Given the description of an element on the screen output the (x, y) to click on. 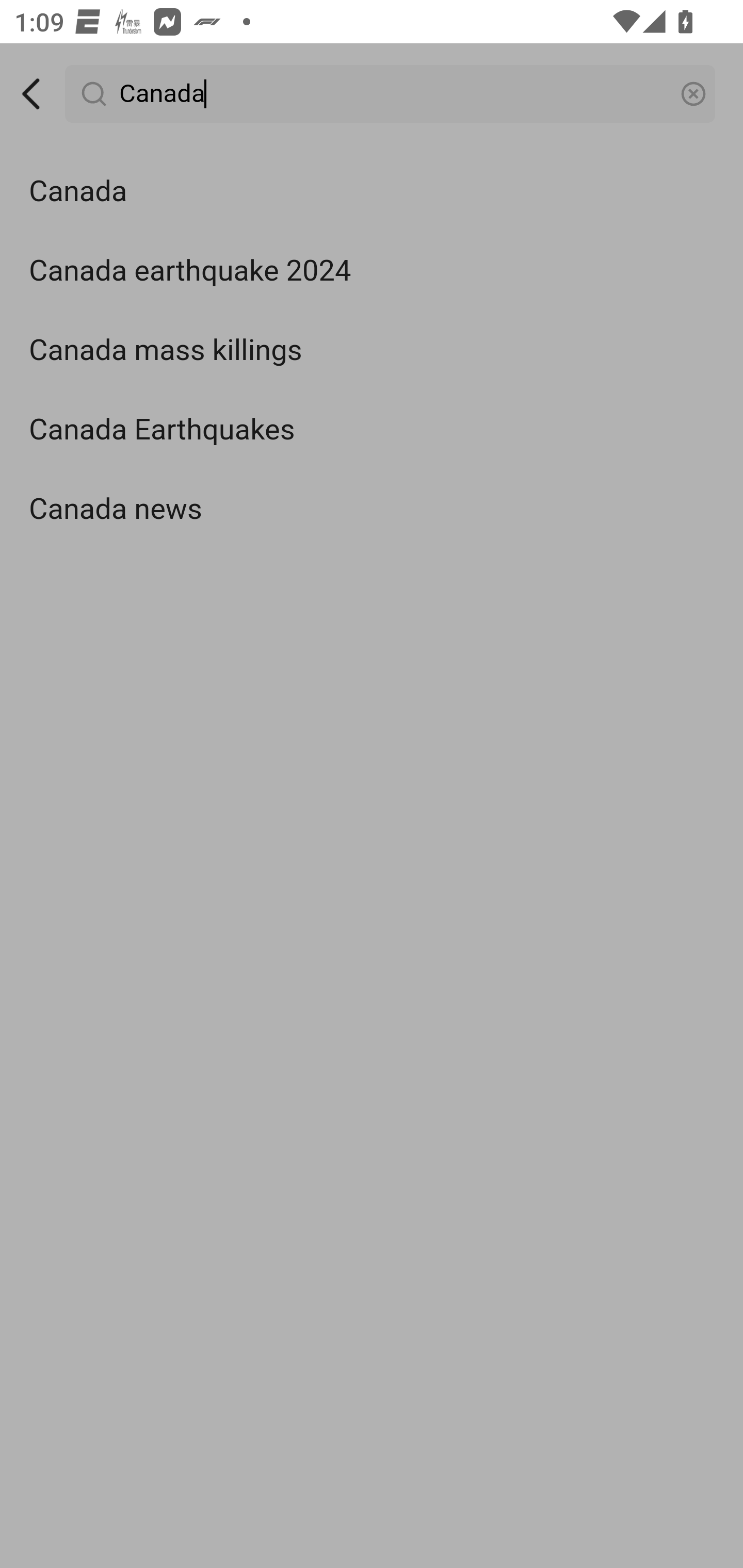
Canada (390, 93)
Canada (371, 192)
Canada earthquake 2024 (371, 270)
Canada mass killings (371, 351)
Canada Earthquakes (371, 430)
Canada news (371, 508)
